Given the description of an element on the screen output the (x, y) to click on. 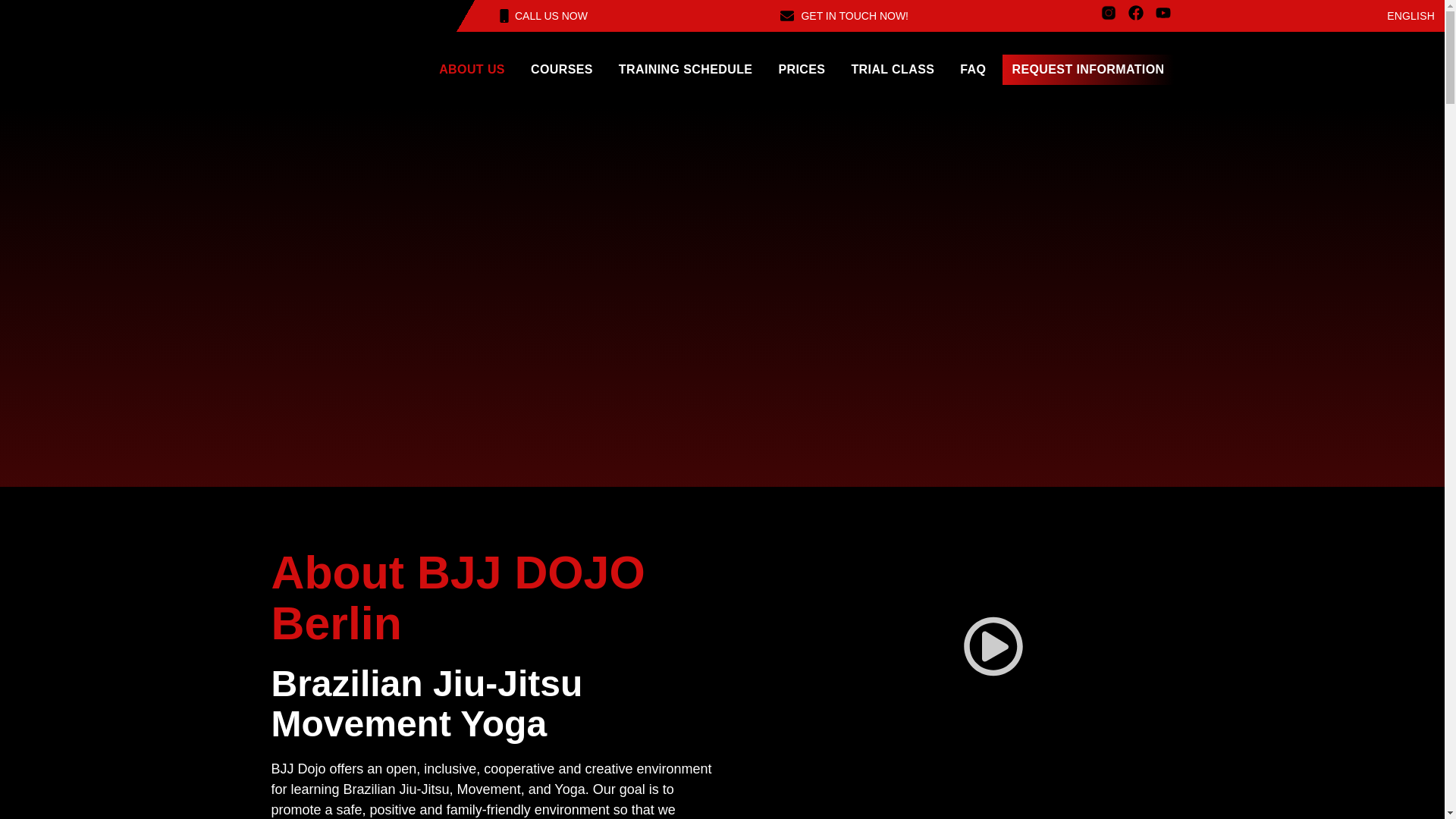
REQUEST INFORMATION (1088, 69)
ABOUT US (471, 69)
ENGLISH (1403, 15)
GET IN TOUCH NOW! (844, 15)
FAQ (972, 69)
PRICES (801, 69)
CALL US NOW (541, 15)
TRAINING SCHEDULE (685, 69)
TRIAL CLASS (892, 69)
COURSES (561, 69)
